Given the description of an element on the screen output the (x, y) to click on. 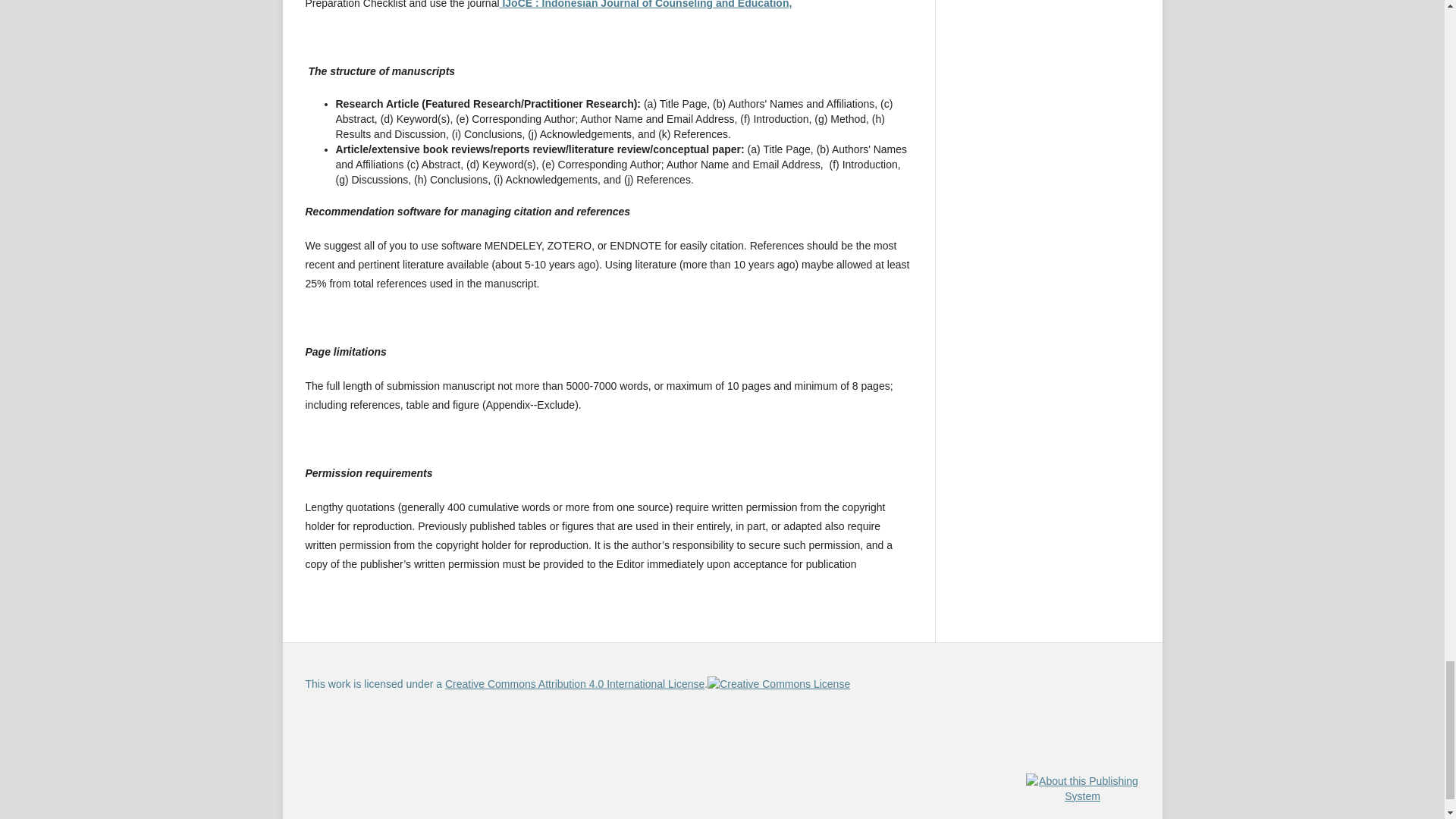
 IJoCE : Indonesian Journal of Counseling and Education, (645, 4)
